Given the description of an element on the screen output the (x, y) to click on. 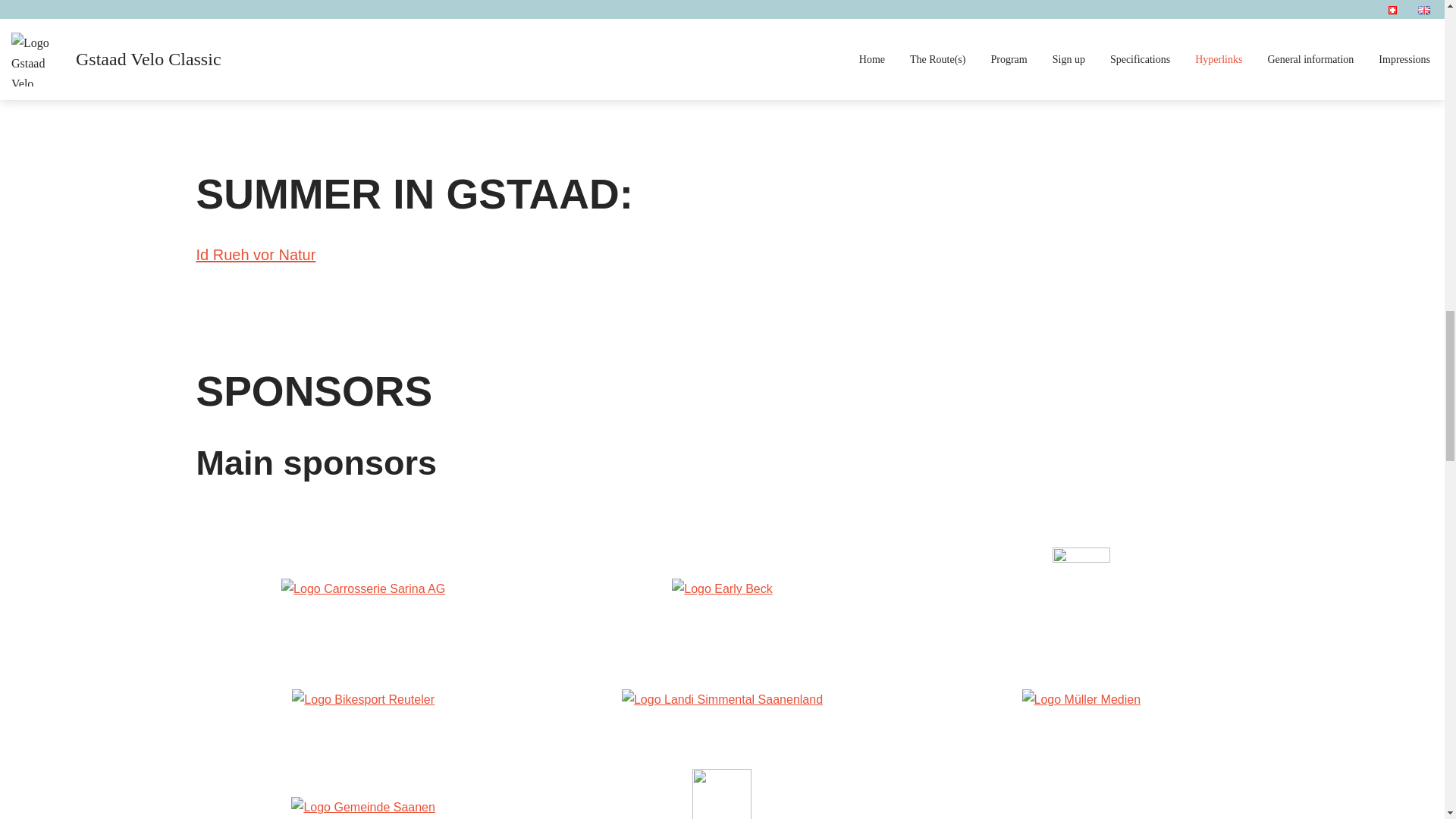
Id Rueh vor Natur (255, 253)
